Given the description of an element on the screen output the (x, y) to click on. 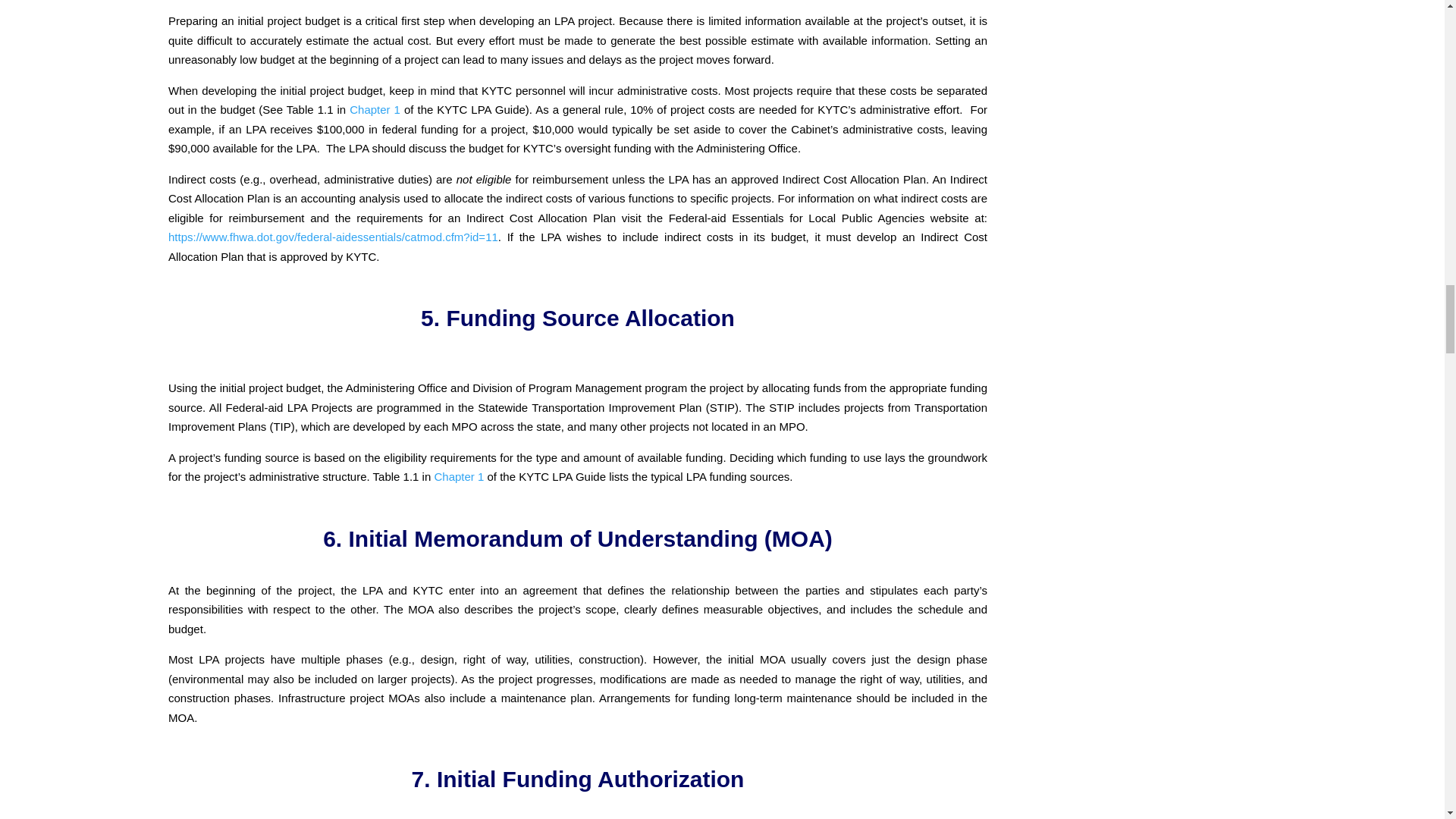
Chapter 1 (374, 109)
